Given the description of an element on the screen output the (x, y) to click on. 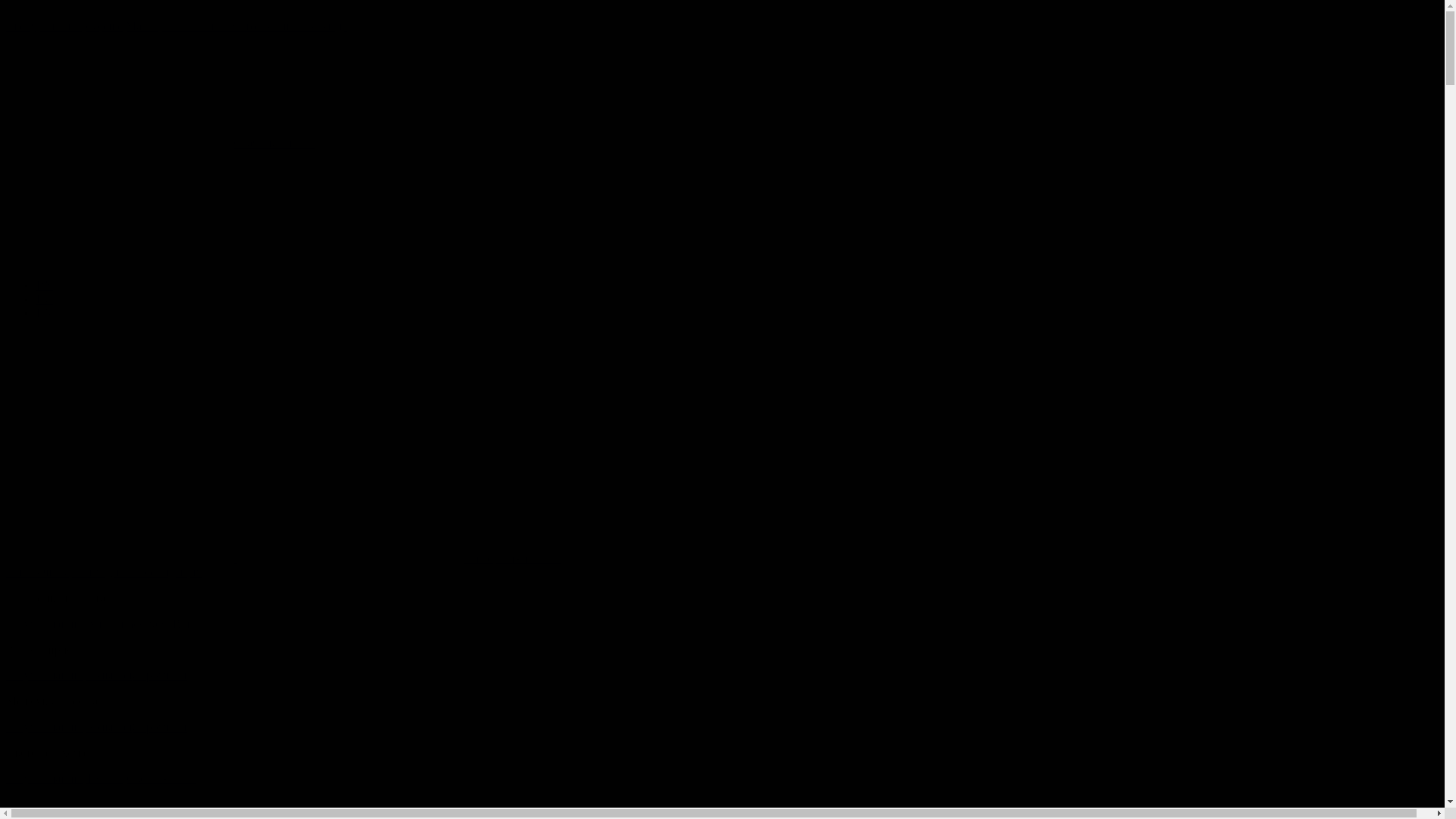
Arial Element type: text (97, 623)
EN Element type: text (44, 312)
RU Element type: text (44, 298)
RU Element type: text (129, 259)
BY Element type: text (44, 285)
Times New Roman Element type: text (160, 623)
